Given the description of an element on the screen output the (x, y) to click on. 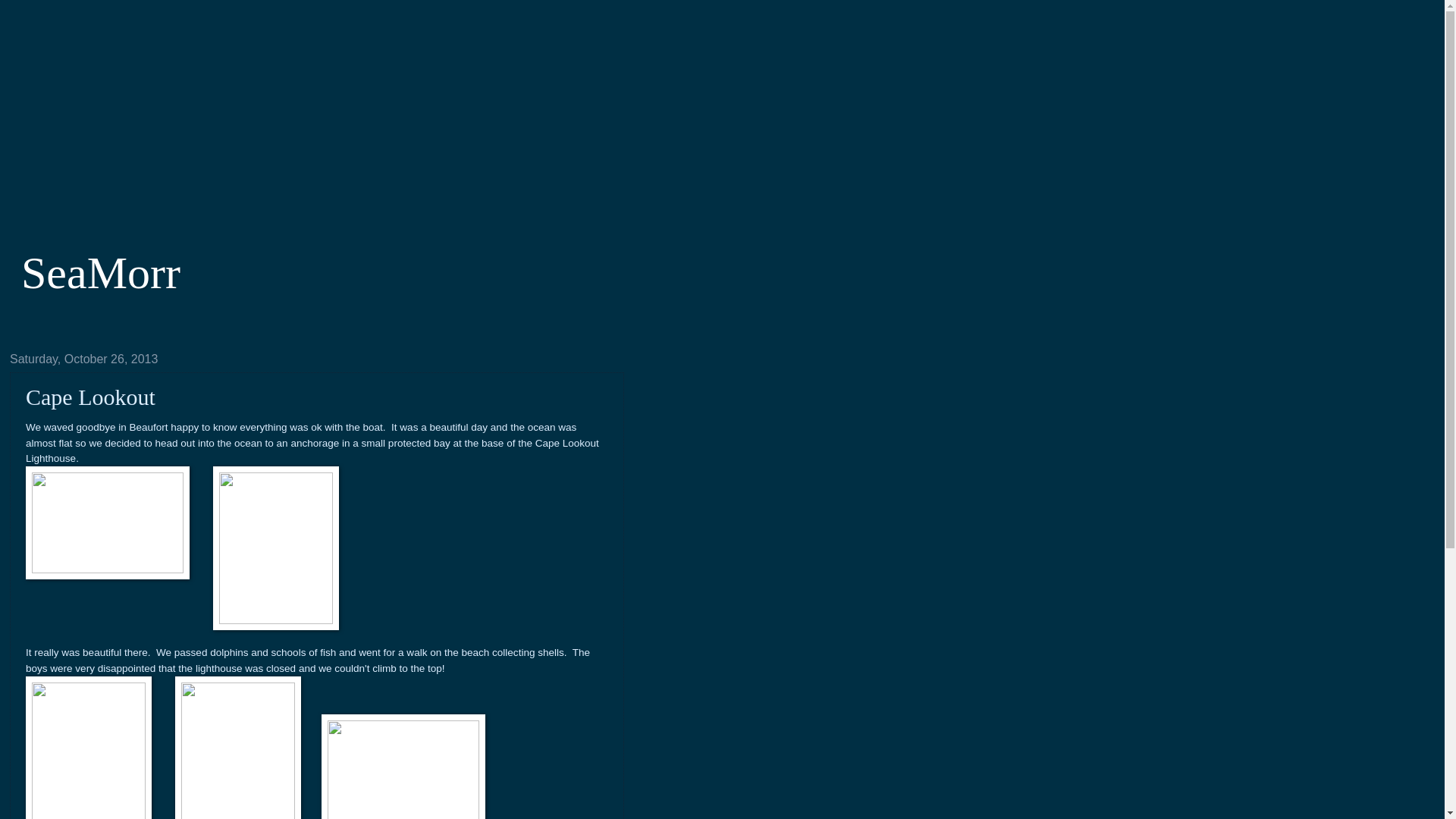
SeaMorr (100, 273)
